Given the description of an element on the screen output the (x, y) to click on. 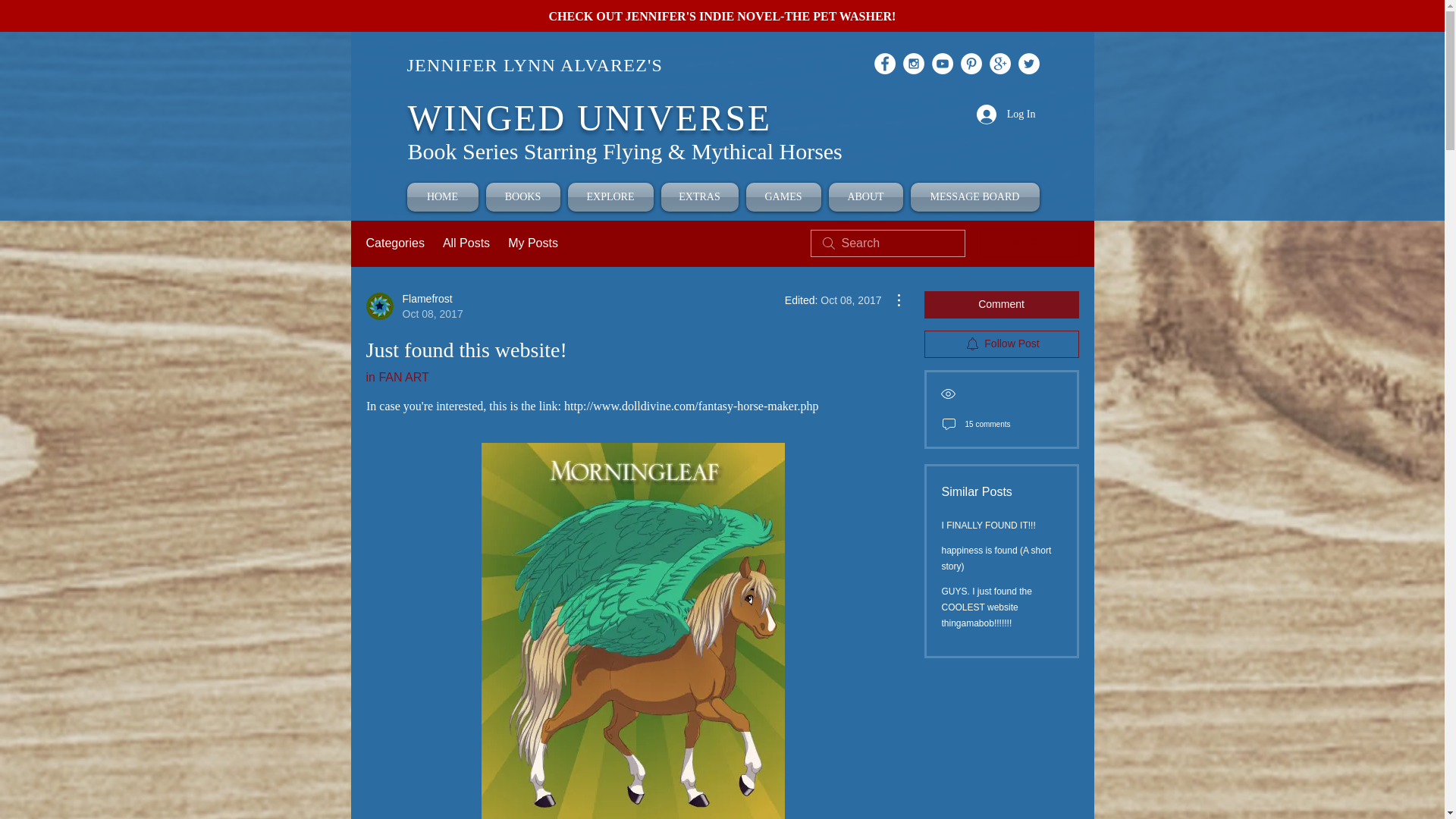
ABOUT (866, 196)
EXTRAS (698, 196)
MESSAGE BOARD (973, 196)
BOOKS (522, 196)
EXPLORE (611, 196)
JENNIFER LYNN ALVAREZ'S (534, 65)
CHECK OUT JENNIFER'S INDIE NOVEL-THE PET WASHER! (721, 16)
GAMES (782, 196)
Log In (1006, 113)
WINGED UNIVERSE (589, 117)
HOME (443, 196)
